Given the description of an element on the screen output the (x, y) to click on. 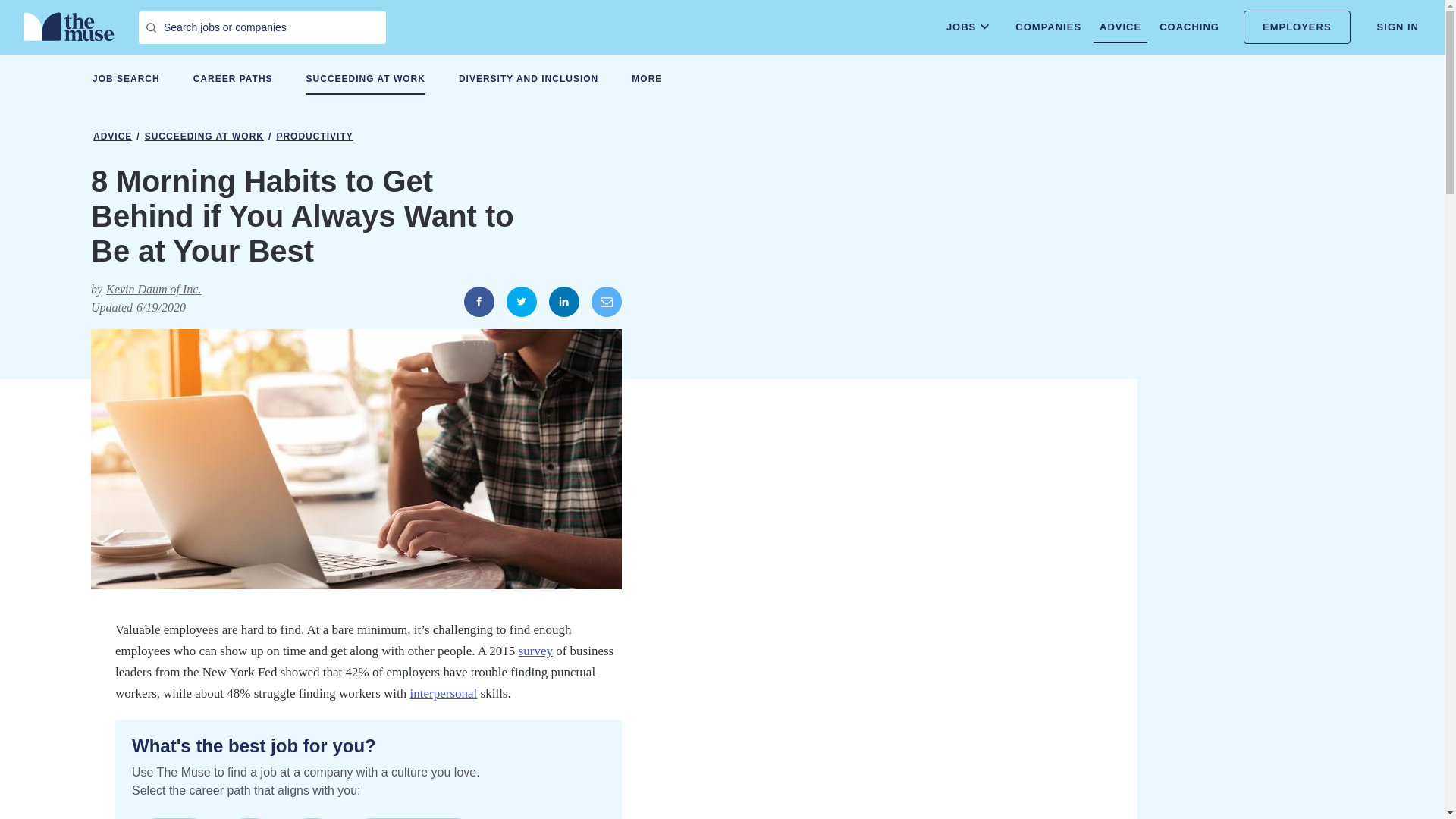
EMPLOYERS (1297, 27)
COACHING (1189, 27)
COMPANIES (1048, 27)
ADVICE (1120, 27)
SIGN IN (1398, 27)
